Given the description of an element on the screen output the (x, y) to click on. 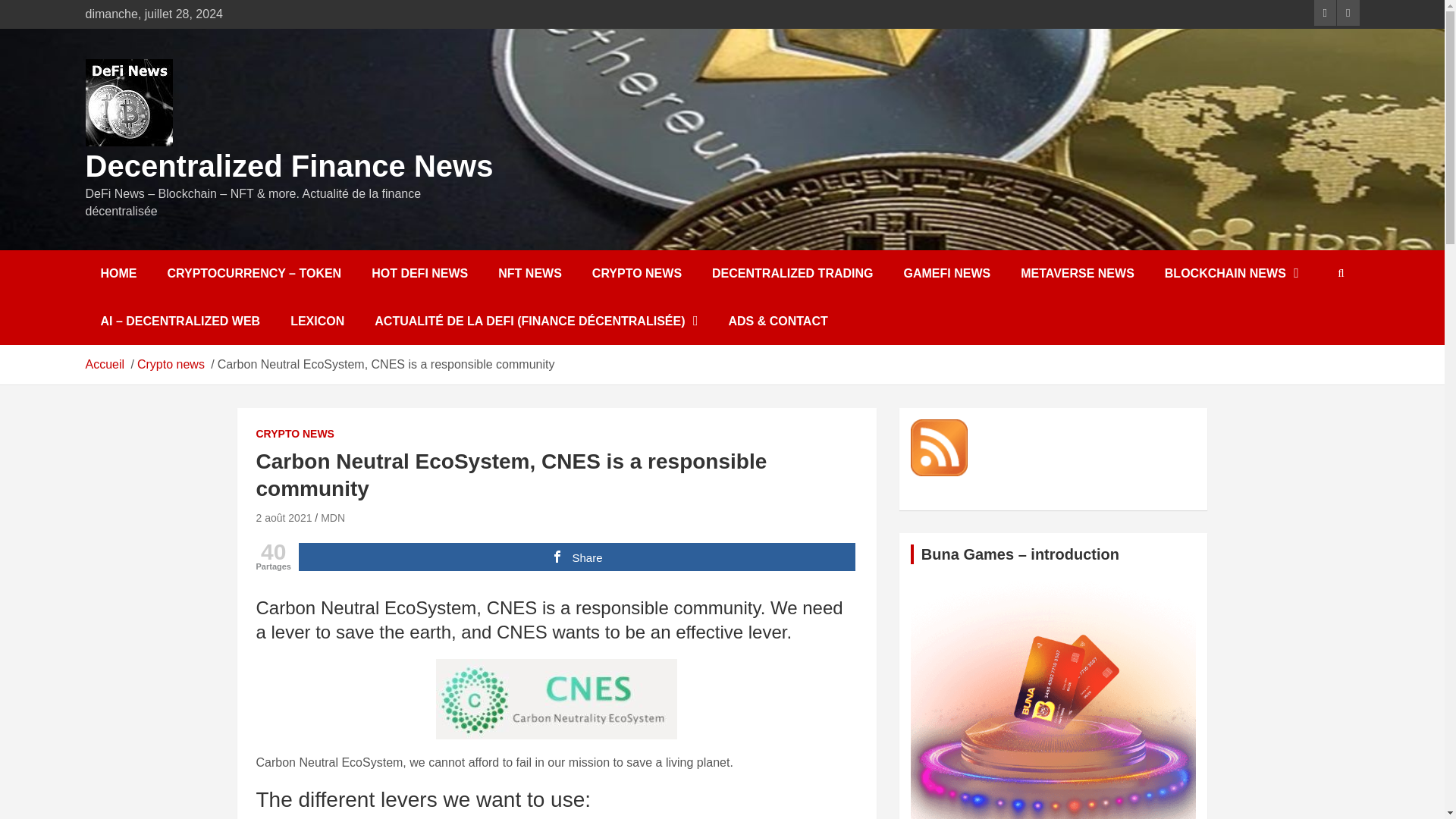
Share (577, 556)
Carbon Neutral EcoSystem, CNES is a responsible community (284, 517)
Crypto news (170, 364)
METAVERSE NEWS (1078, 273)
DECENTRALIZED TRADING (792, 273)
LEXICON (317, 321)
CRYPTO NEWS (295, 434)
CRYPTO NEWS (636, 273)
GAMEFI NEWS (947, 273)
HOME (117, 273)
Decentralized Finance News (288, 165)
BLOCKCHAIN NEWS (1232, 273)
NFT NEWS (529, 273)
HOT DEFI NEWS (419, 273)
MDN (332, 517)
